Given the description of an element on the screen output the (x, y) to click on. 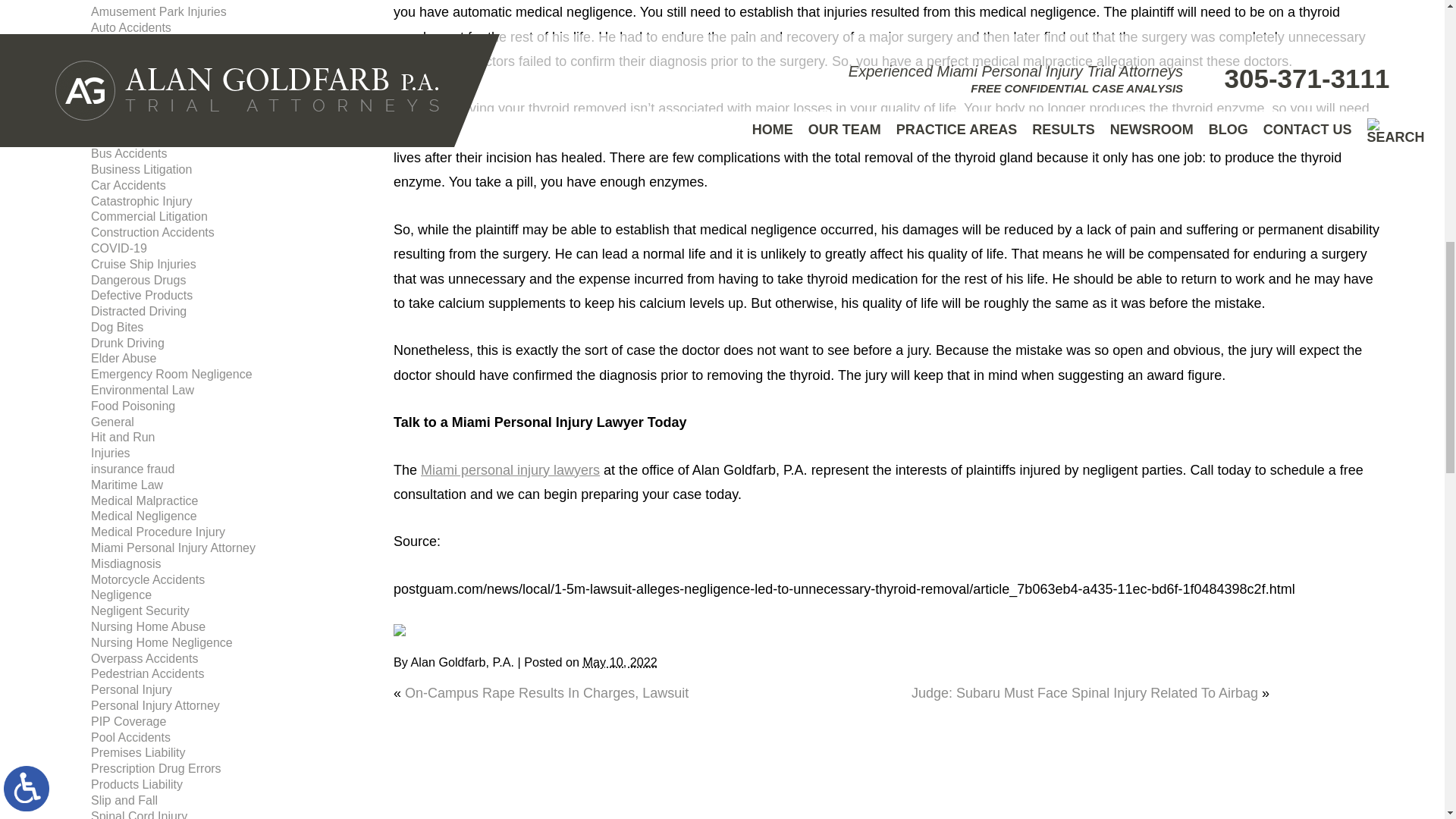
Facebook (399, 630)
2022-05-10T03:04:32-0700 (620, 662)
Twitter (410, 630)
LinkedIn (420, 630)
